Given the description of an element on the screen output the (x, y) to click on. 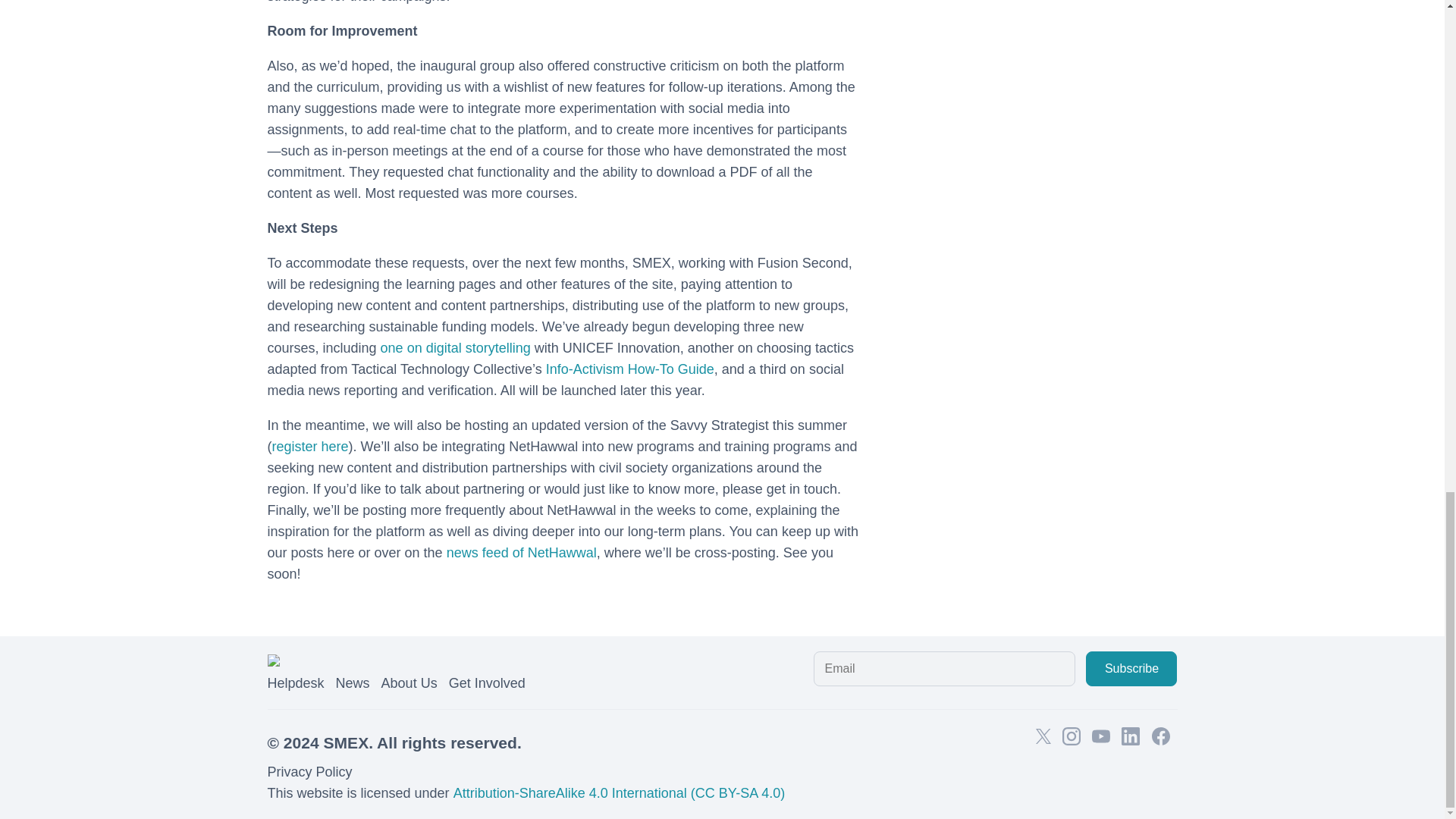
NetHawwal News (521, 552)
register here (308, 446)
About Us (409, 683)
one on digital storytelling (455, 347)
Info-Activism How-To Guide (630, 368)
News (352, 683)
news feed of NetHawwal (521, 552)
Helpdesk (294, 683)
Subscribe (1131, 668)
